Given the description of an element on the screen output the (x, y) to click on. 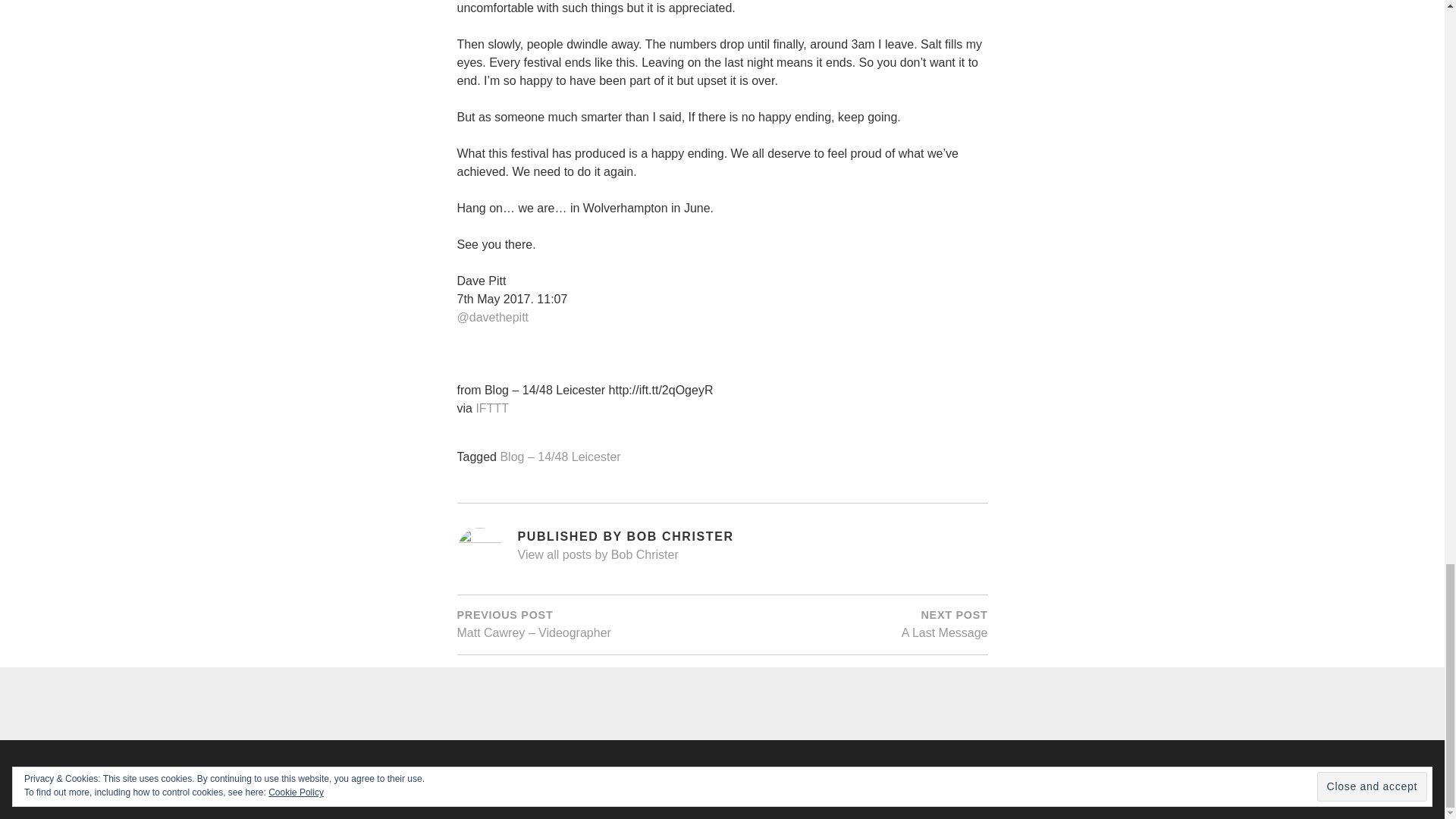
View all posts by Bob Christer (751, 556)
AUTOMATTIC (927, 780)
IFTTT (854, 623)
PROUDLY POWERED BY WORDPRESS (492, 409)
